Given the description of an element on the screen output the (x, y) to click on. 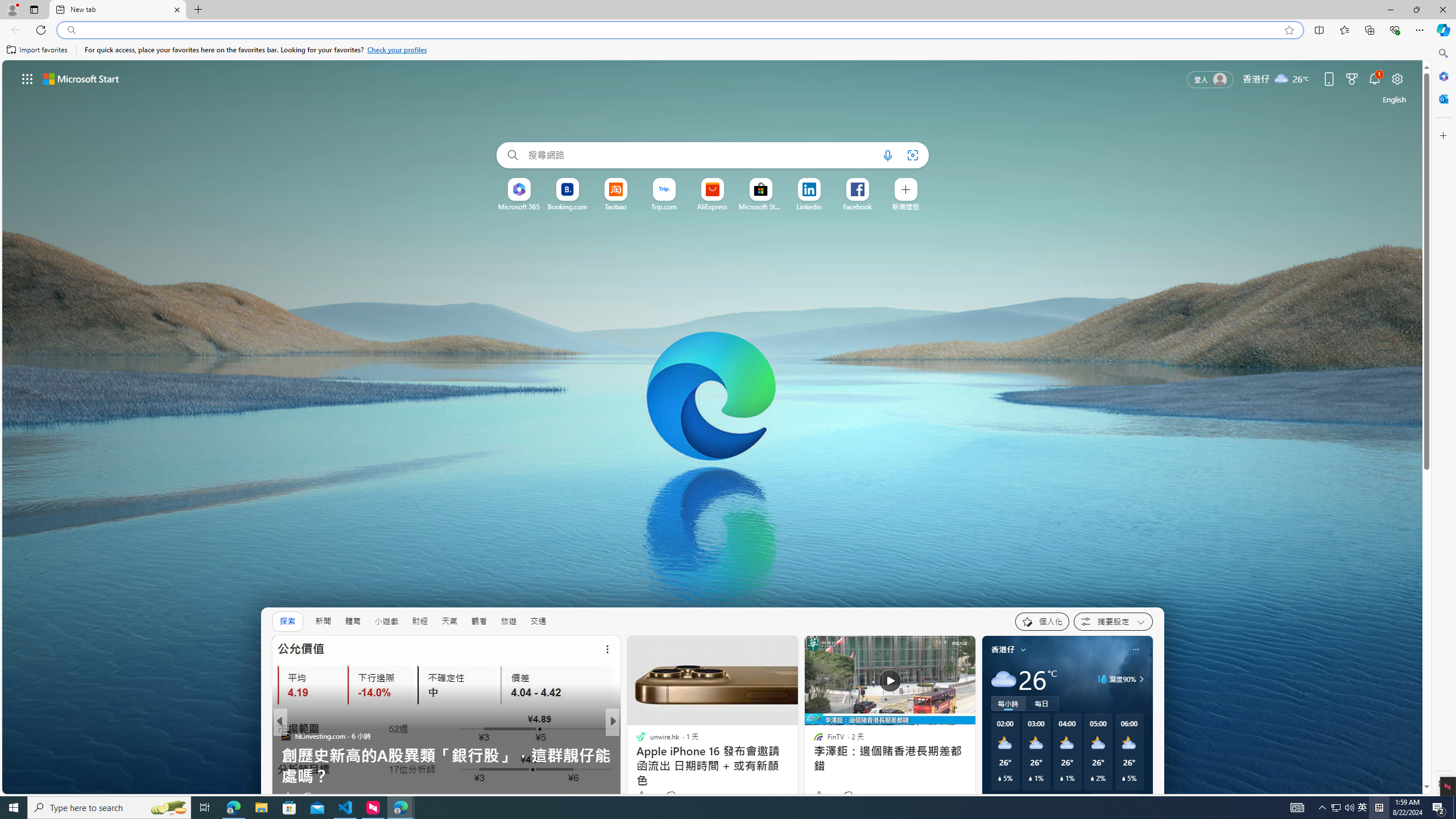
Search icon (70, 29)
Check your profiles (397, 49)
Booking.com (567, 206)
Bloomberg (635, 735)
